Given the description of an element on the screen output the (x, y) to click on. 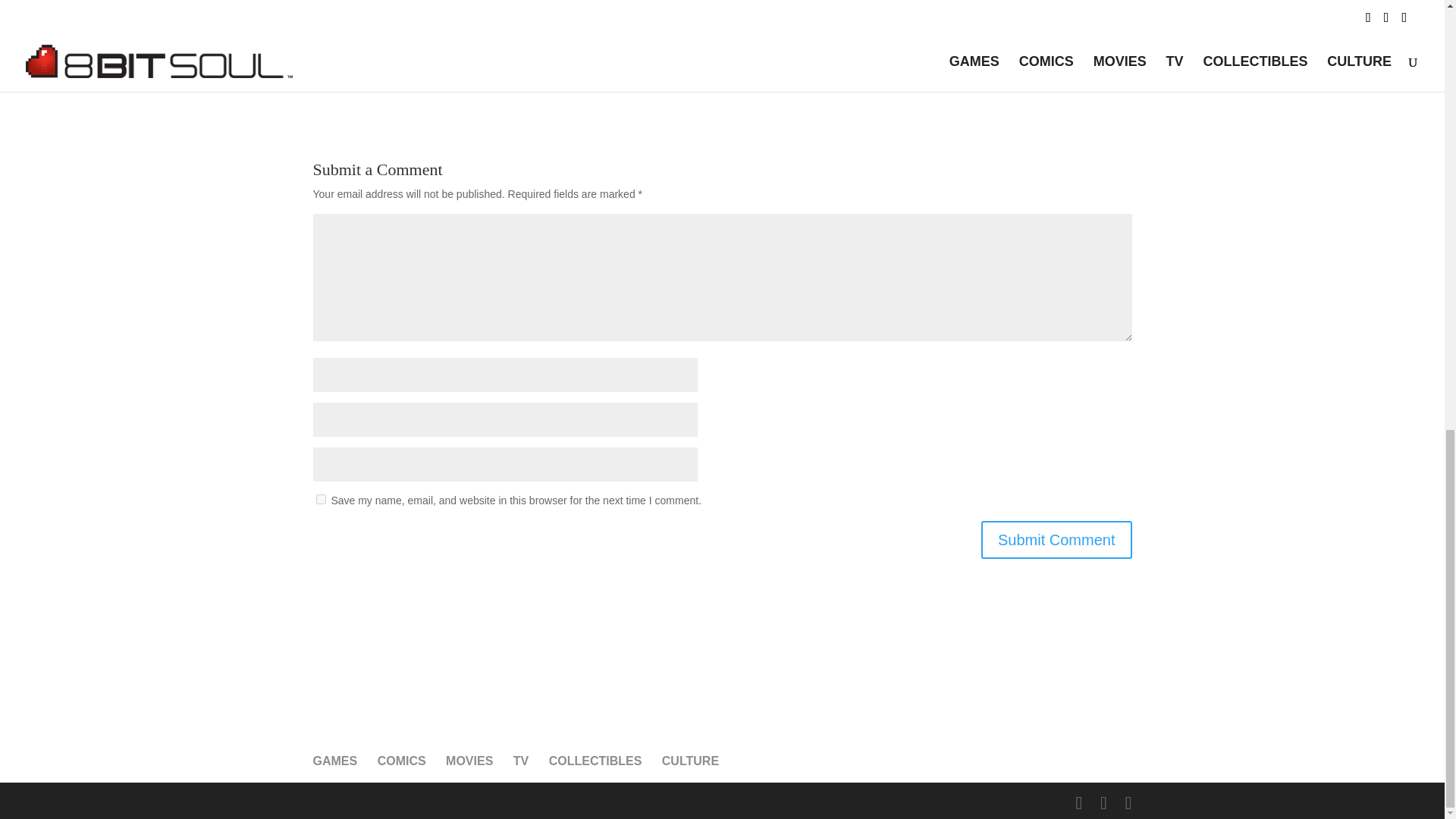
COLLECTIBLES (595, 760)
COMICS (401, 760)
CULTURE (690, 760)
MOVIES (469, 760)
TV (520, 760)
yes (319, 499)
GAMES (334, 760)
Submit Comment (1056, 539)
Submit Comment (1056, 539)
